Given the description of an element on the screen output the (x, y) to click on. 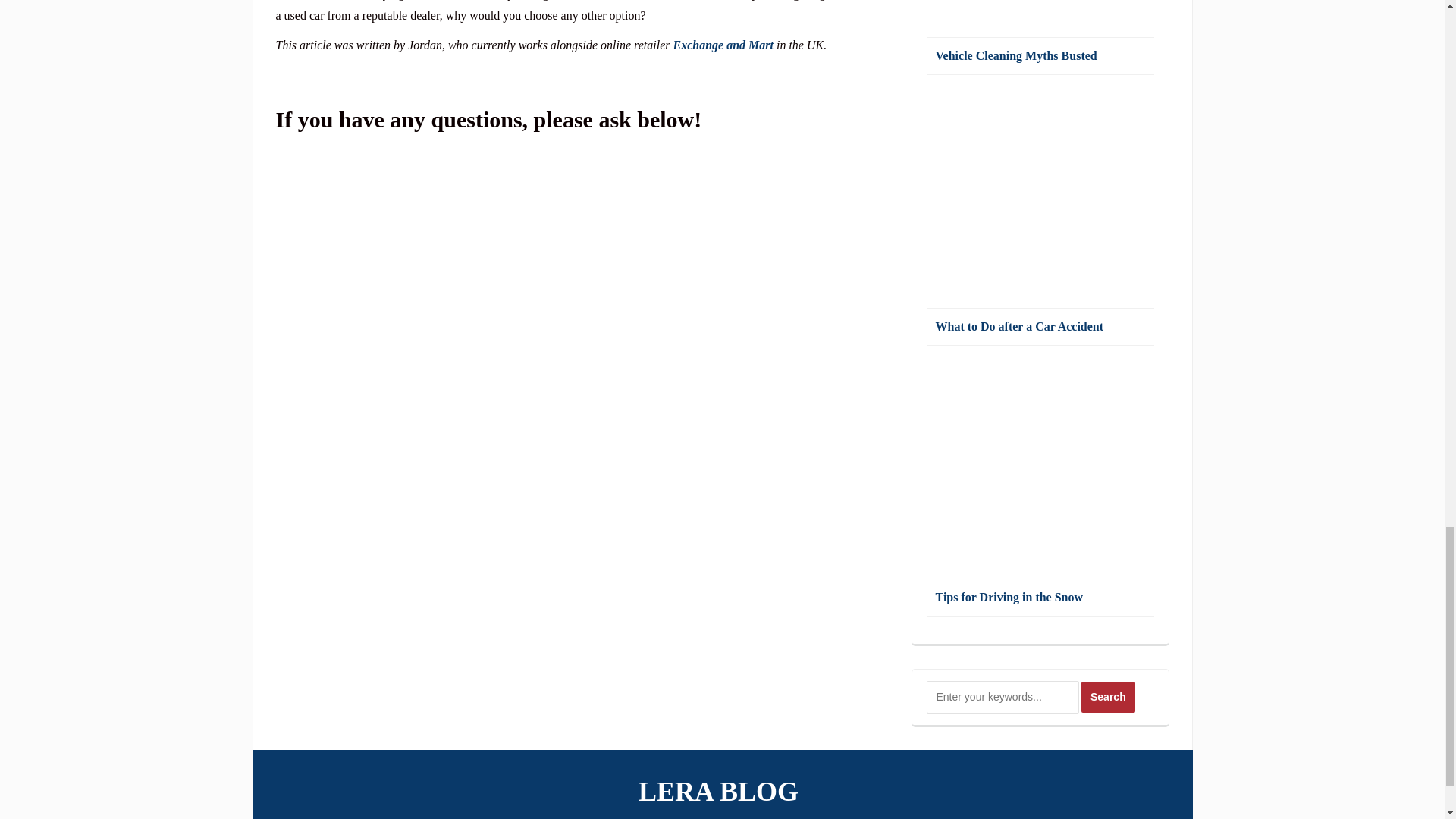
Search (1108, 696)
Search (1108, 696)
